Given the description of an element on the screen output the (x, y) to click on. 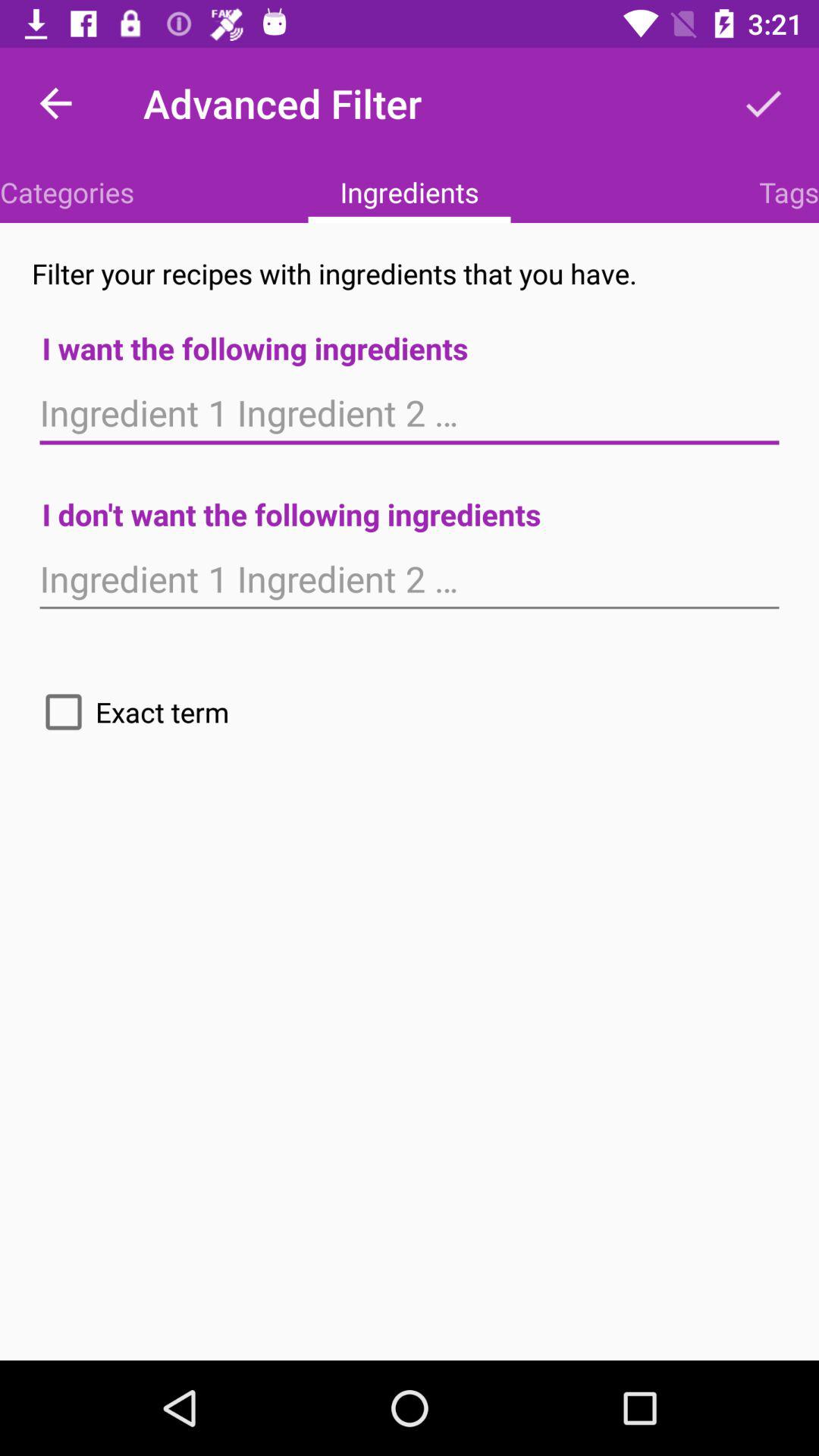
click the item next to ingredients item (67, 192)
